Given the description of an element on the screen output the (x, y) to click on. 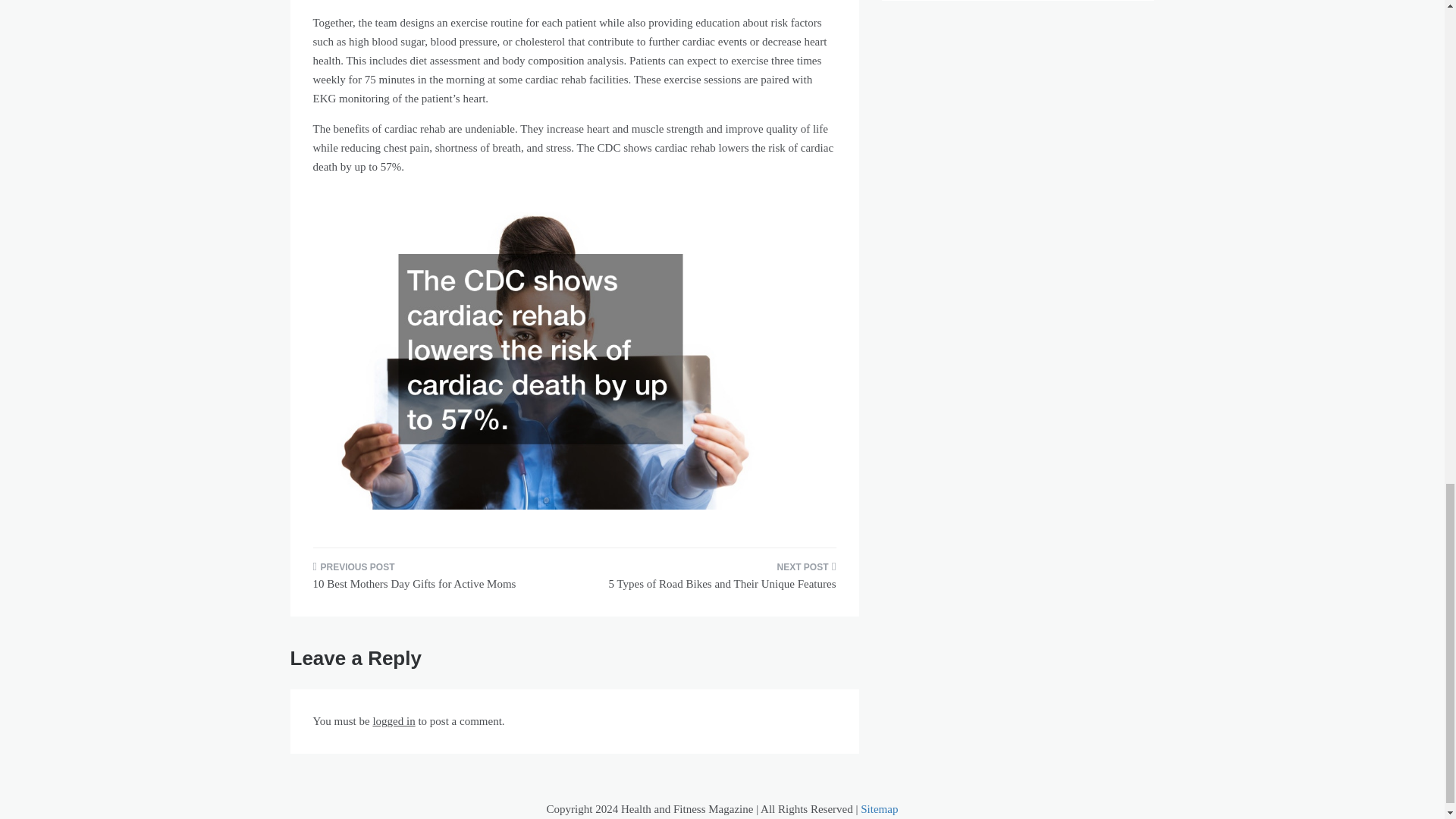
logged in (393, 720)
10 Best Mothers Day Gifts for Active Moms (437, 580)
Sitemap (879, 808)
5 Types of Road Bikes and Their Unique Features (710, 580)
